Given the description of an element on the screen output the (x, y) to click on. 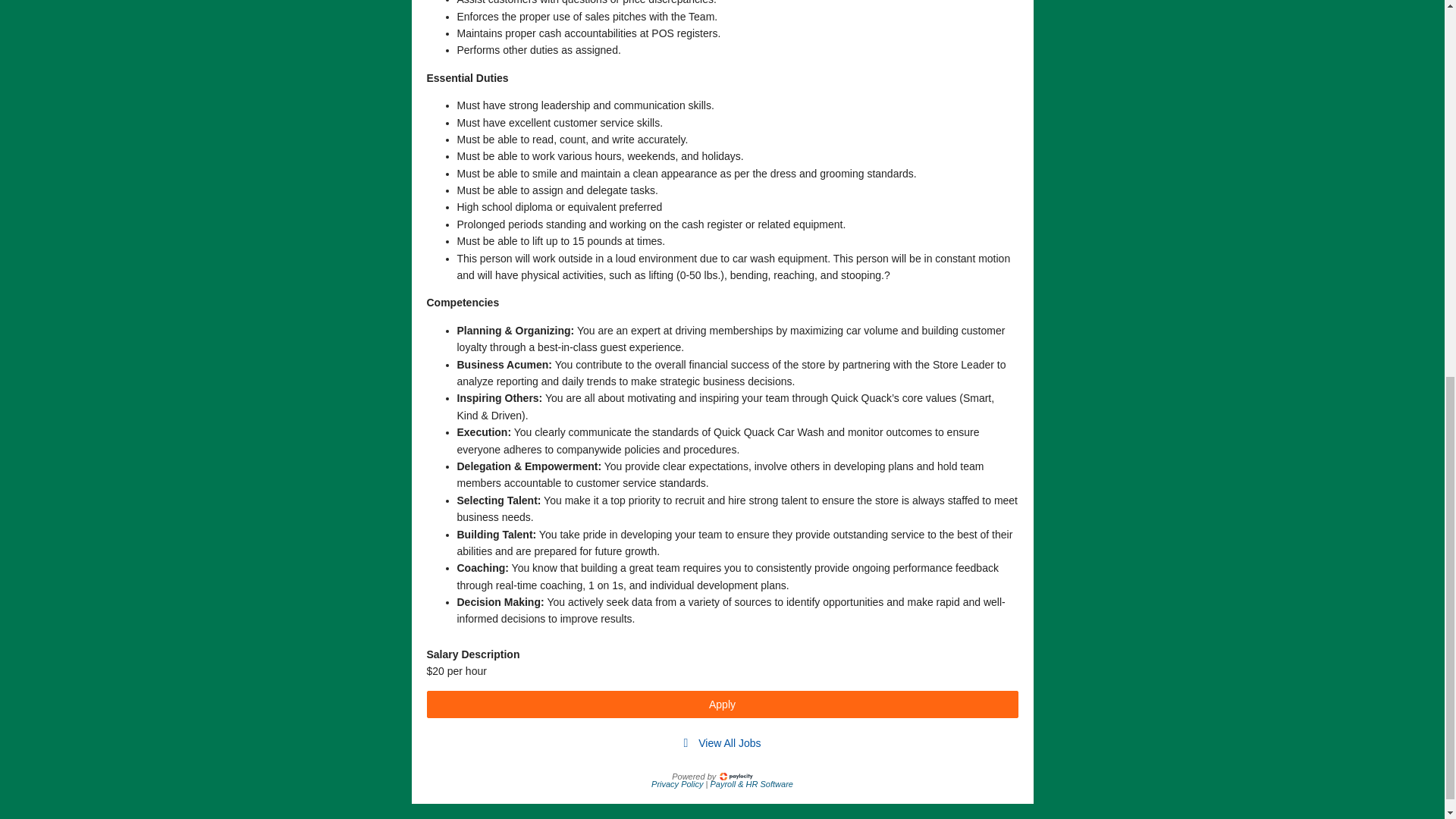
Privacy Policy link - will open in new window (678, 783)
View All Jobs (729, 743)
Apply (721, 704)
Privacy Policy (678, 783)
